Given the description of an element on the screen output the (x, y) to click on. 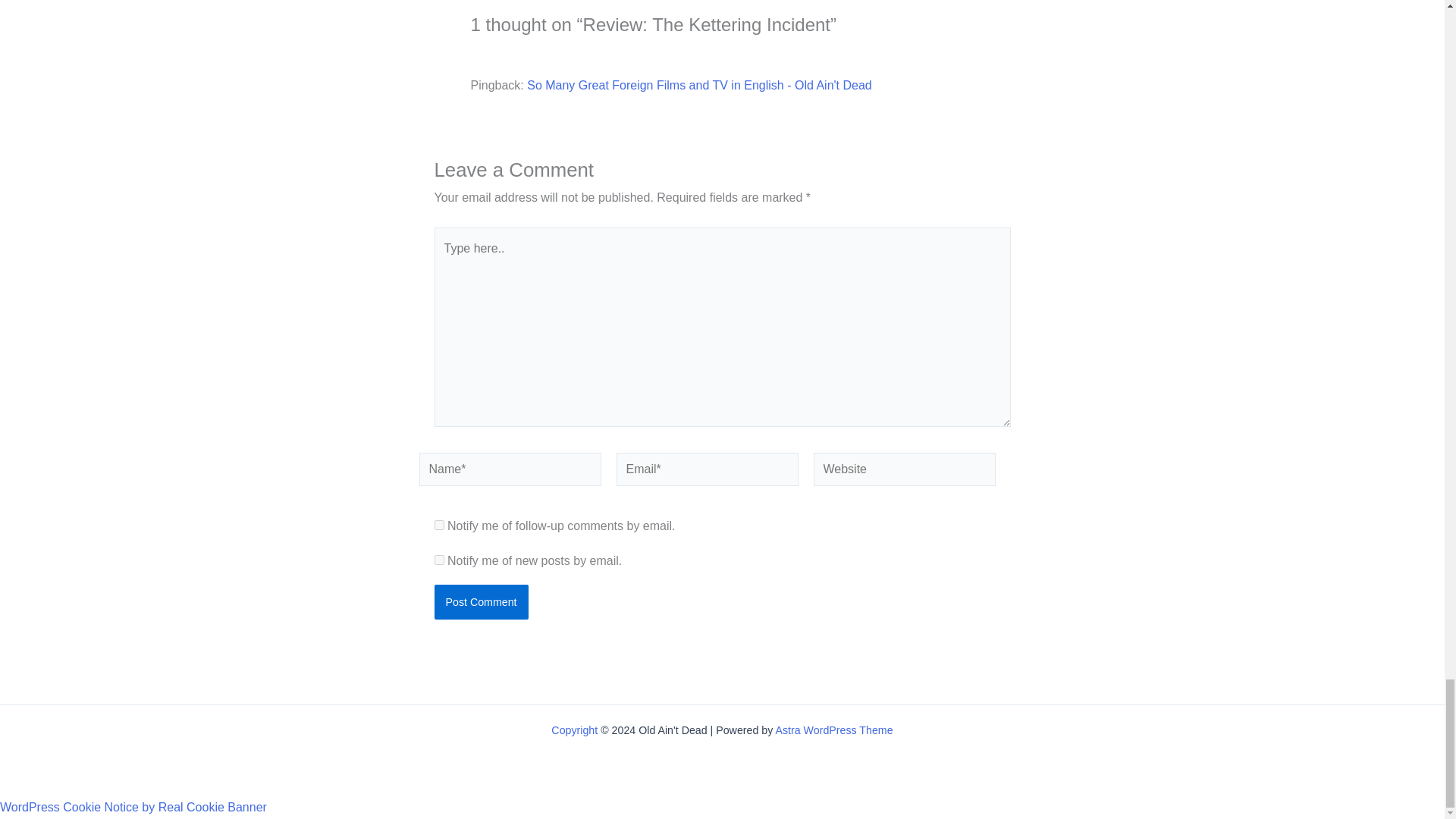
subscribe (438, 524)
subscribe (438, 560)
Post Comment (480, 601)
